Given the description of an element on the screen output the (x, y) to click on. 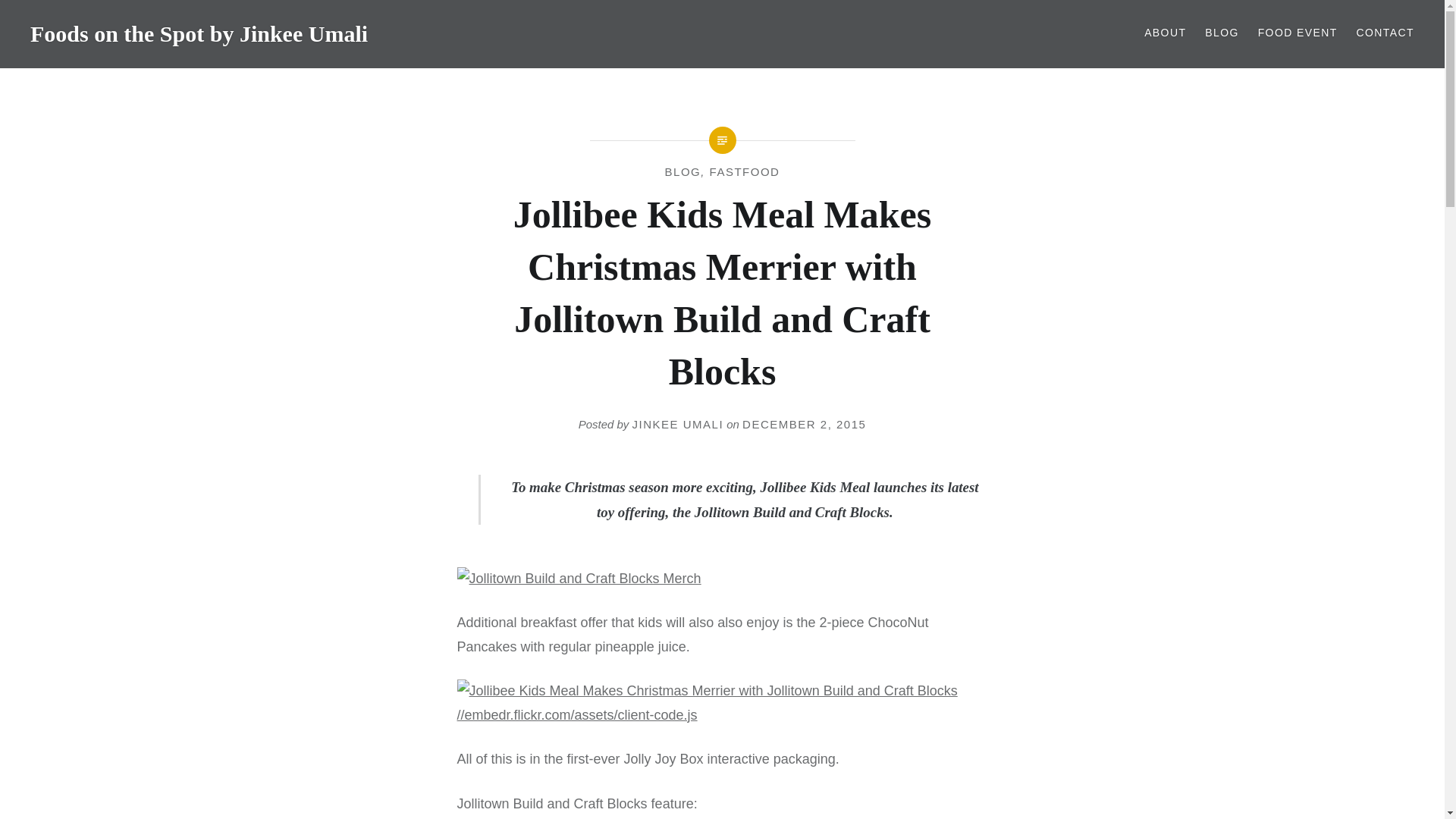
CONTACT (1384, 32)
BLOG (683, 171)
Foods on the Spot by Jinkee Umali (199, 33)
Search (578, 19)
BLOG (1222, 32)
FOOD EVENT (1297, 32)
DECEMBER 2, 2015 (804, 423)
ABOUT (1165, 32)
FASTFOOD (745, 171)
